Given the description of an element on the screen output the (x, y) to click on. 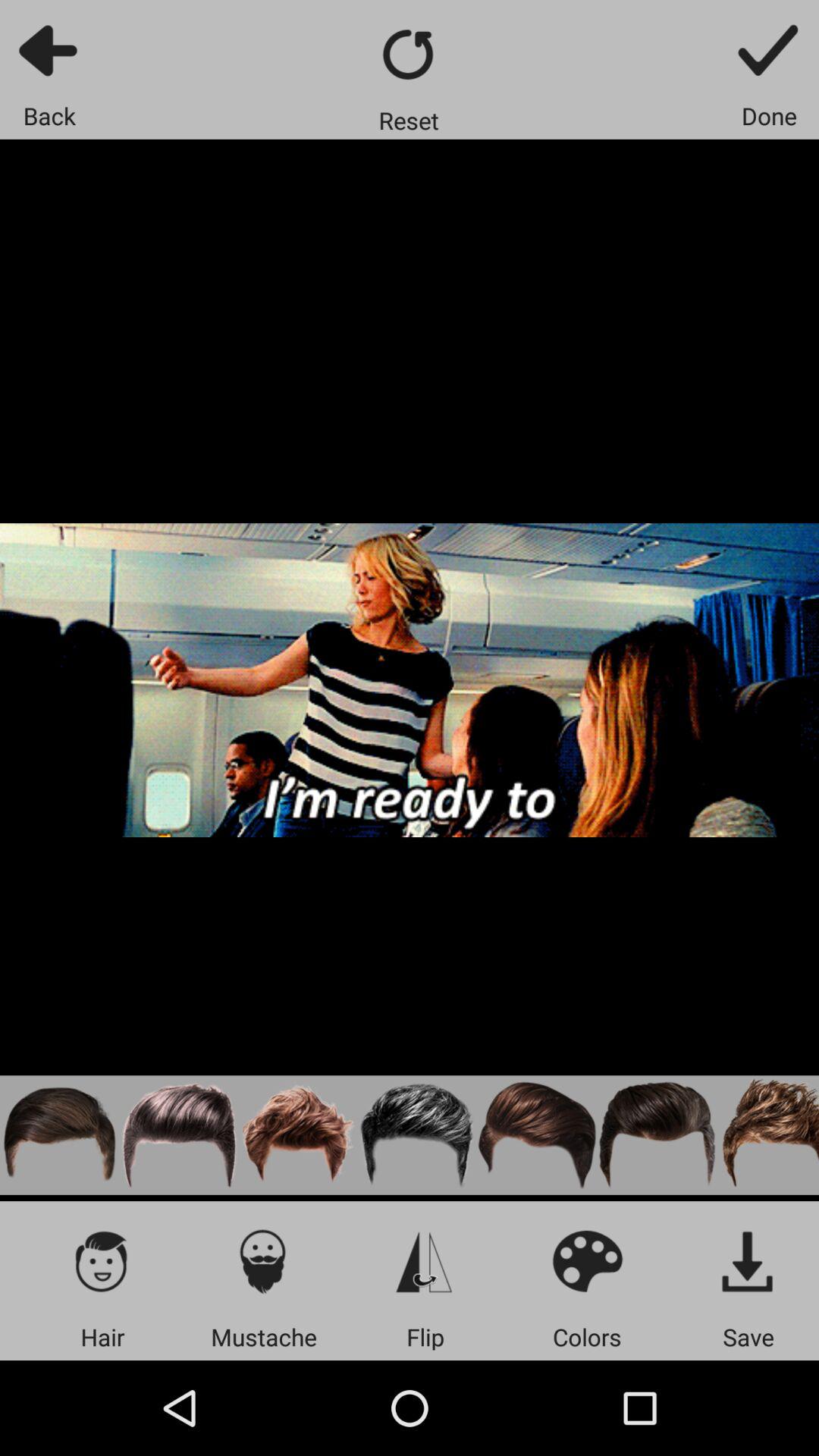
colors menu (586, 1260)
